Given the description of an element on the screen output the (x, y) to click on. 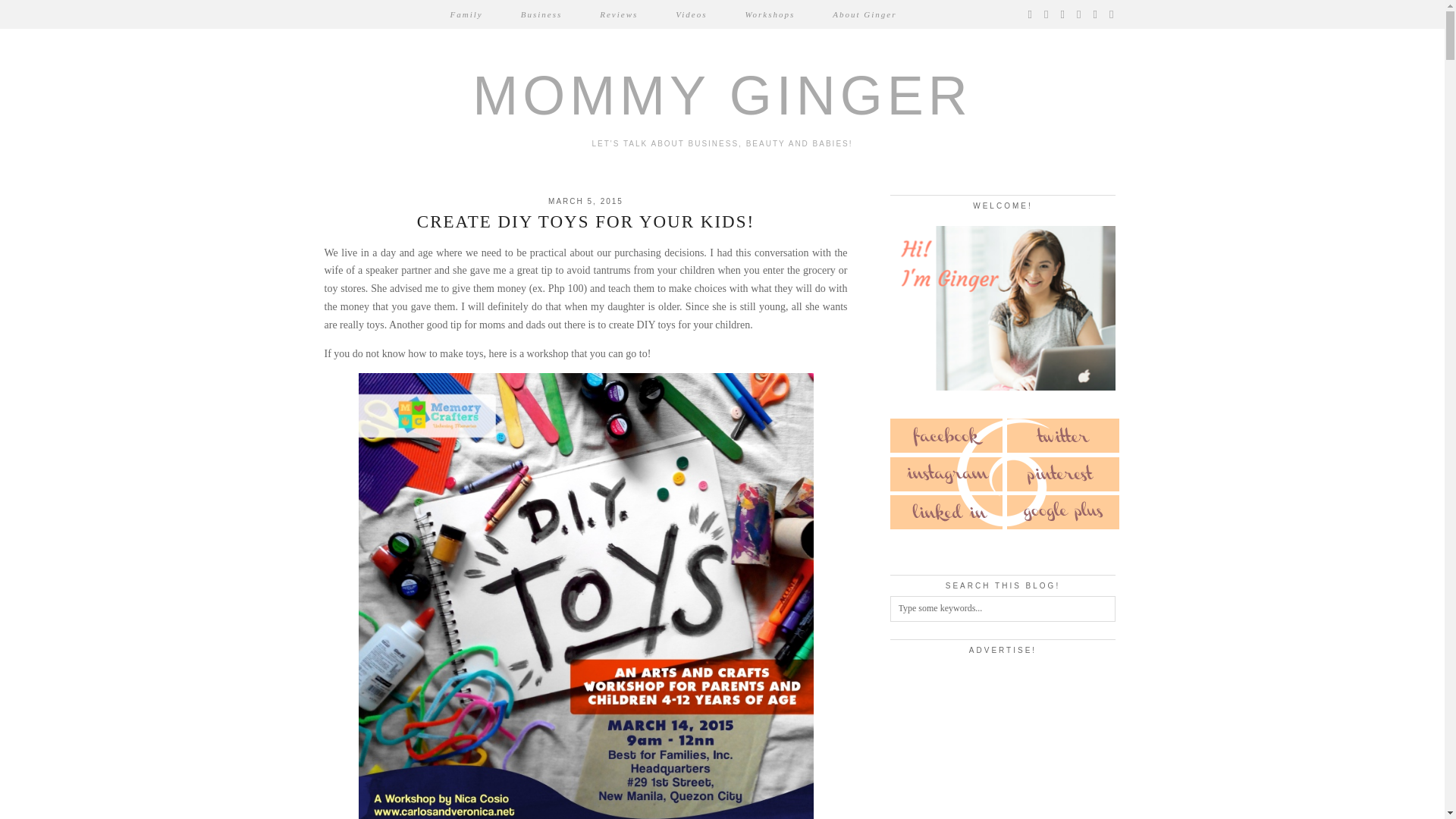
MOMMY GINGER (721, 95)
Reviews (618, 14)
Mommy Ginger (721, 95)
Family (466, 14)
Business (541, 14)
